Given the description of an element on the screen output the (x, y) to click on. 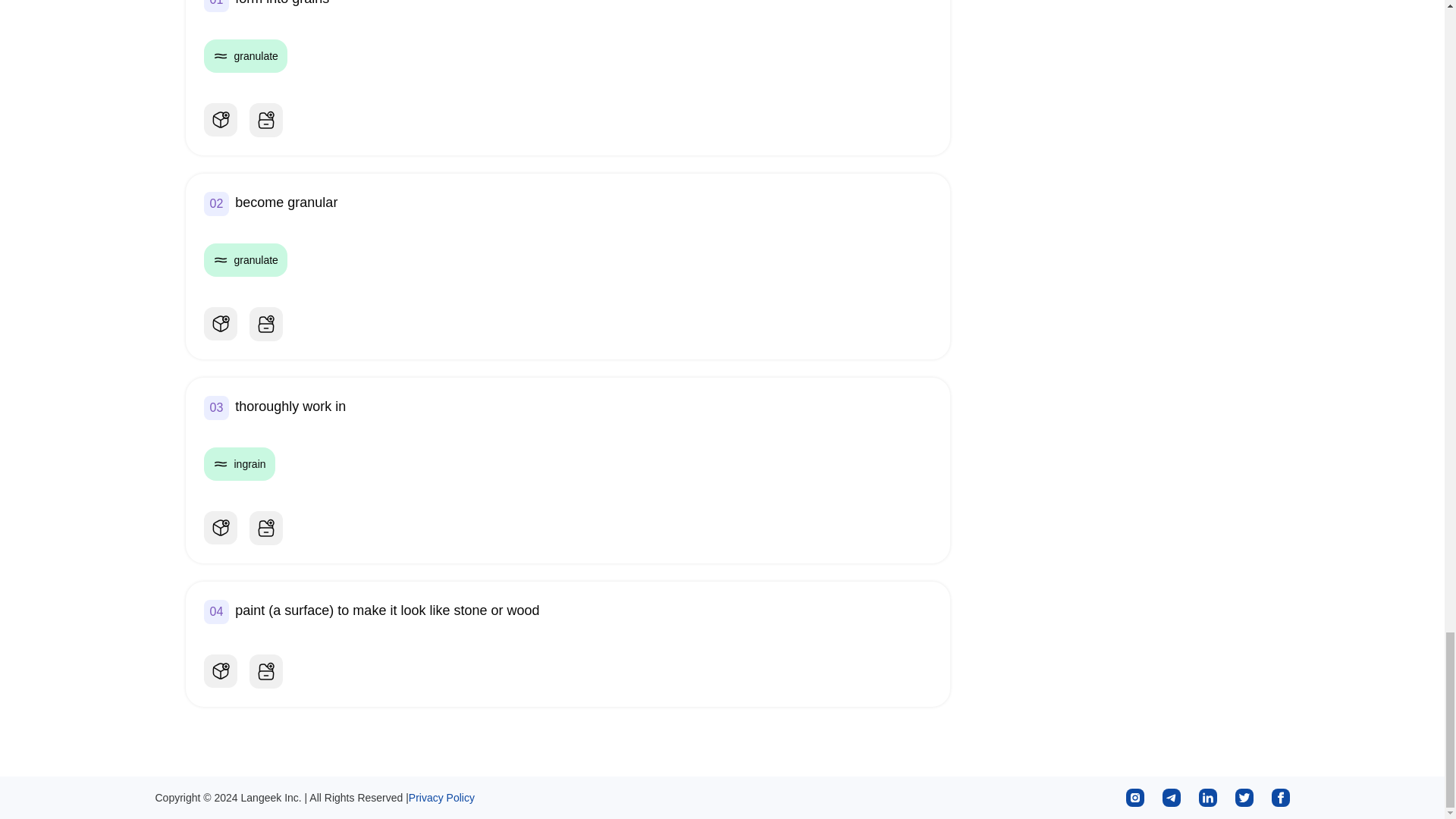
Add to your wordlist (265, 323)
Add to your wordlist (265, 527)
Add to your wordlist (265, 119)
